Given the description of an element on the screen output the (x, y) to click on. 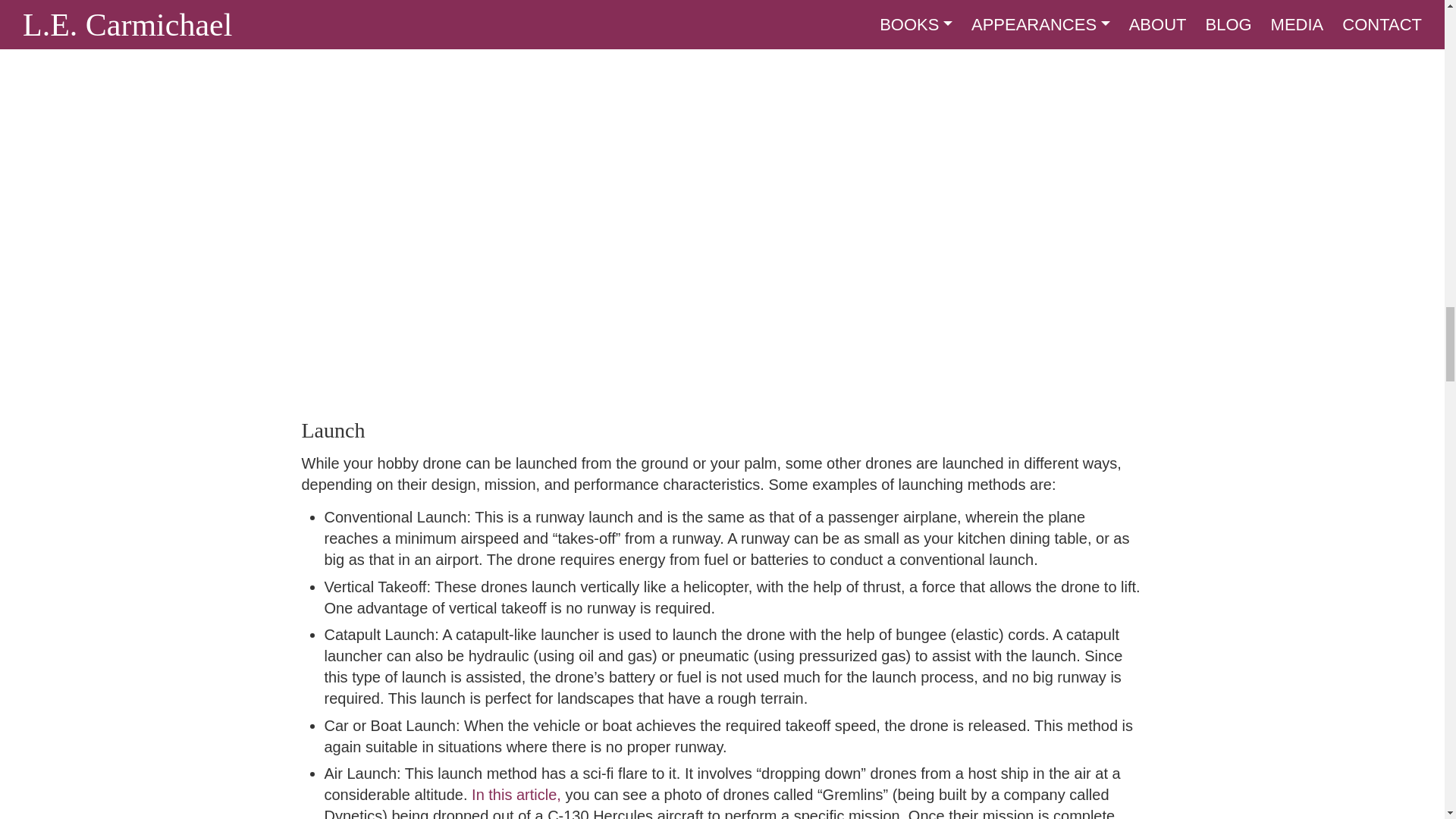
In this article, (515, 794)
